Given the description of an element on the screen output the (x, y) to click on. 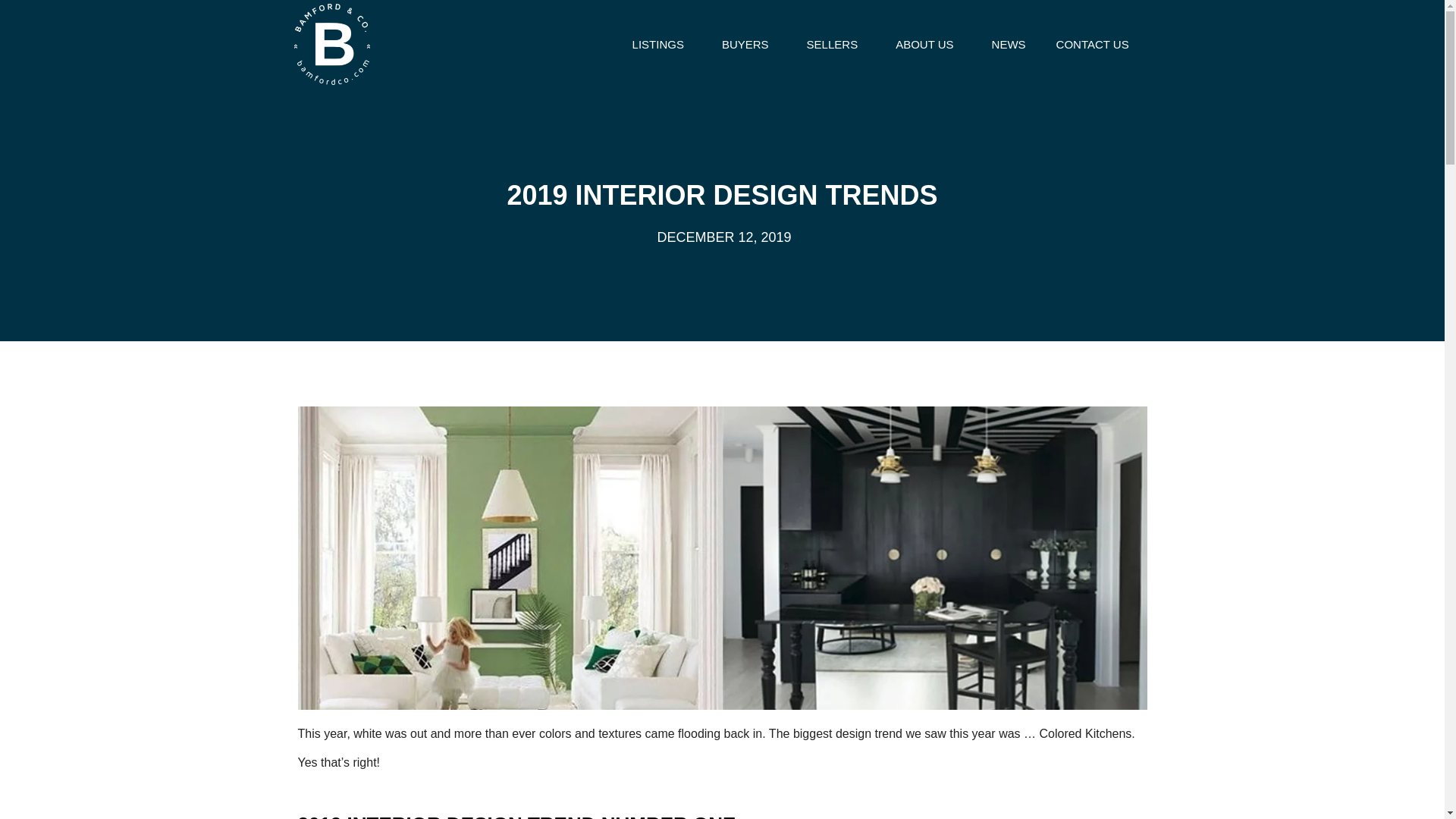
LISTINGS (661, 44)
SELLERS (836, 44)
BUYERS (749, 44)
ABOUT US (927, 44)
CONTACT US (1092, 44)
NEWS (1008, 44)
